Given the description of an element on the screen output the (x, y) to click on. 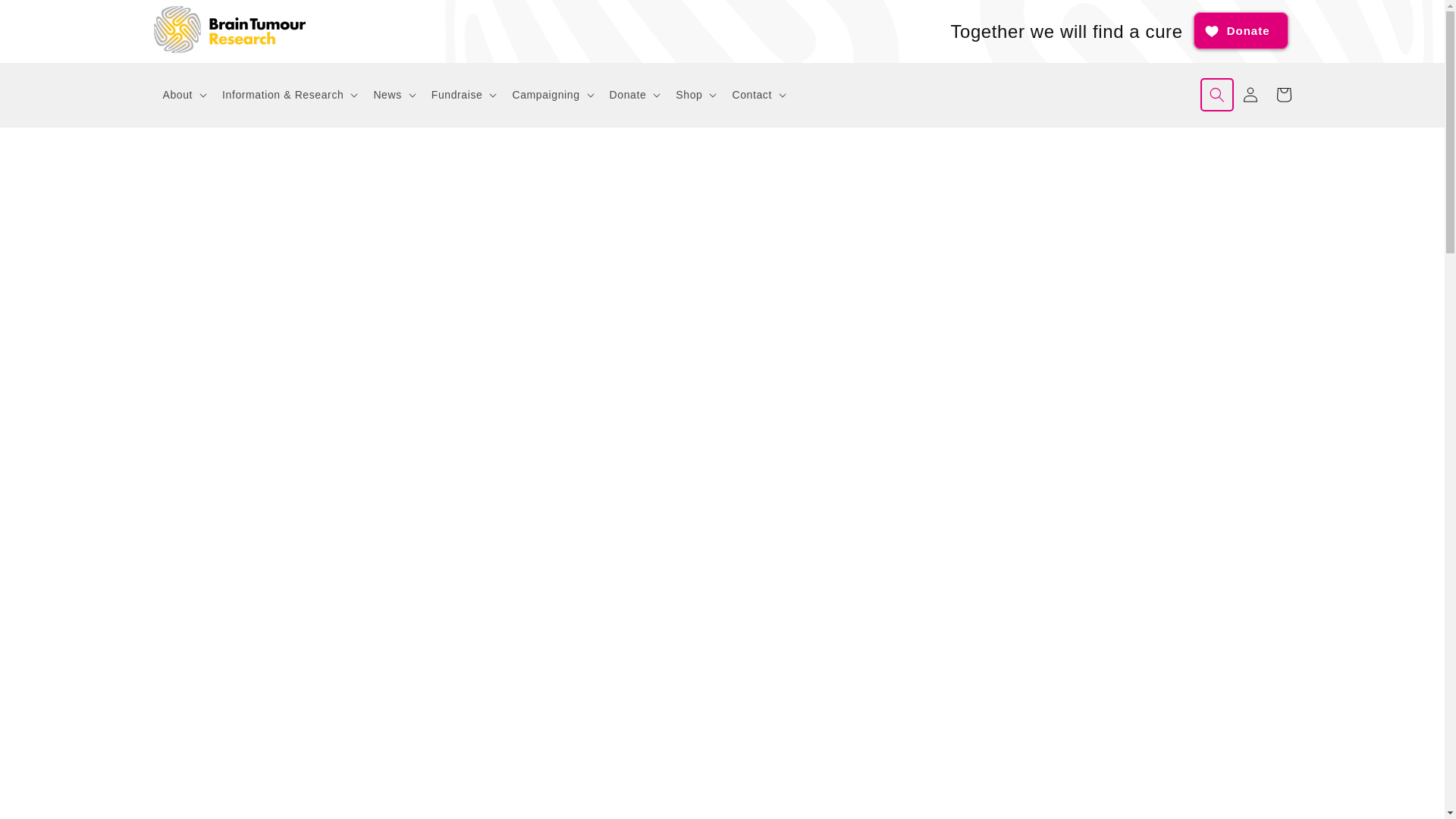
Skip to content (45, 17)
Donate (1241, 30)
